Given the description of an element on the screen output the (x, y) to click on. 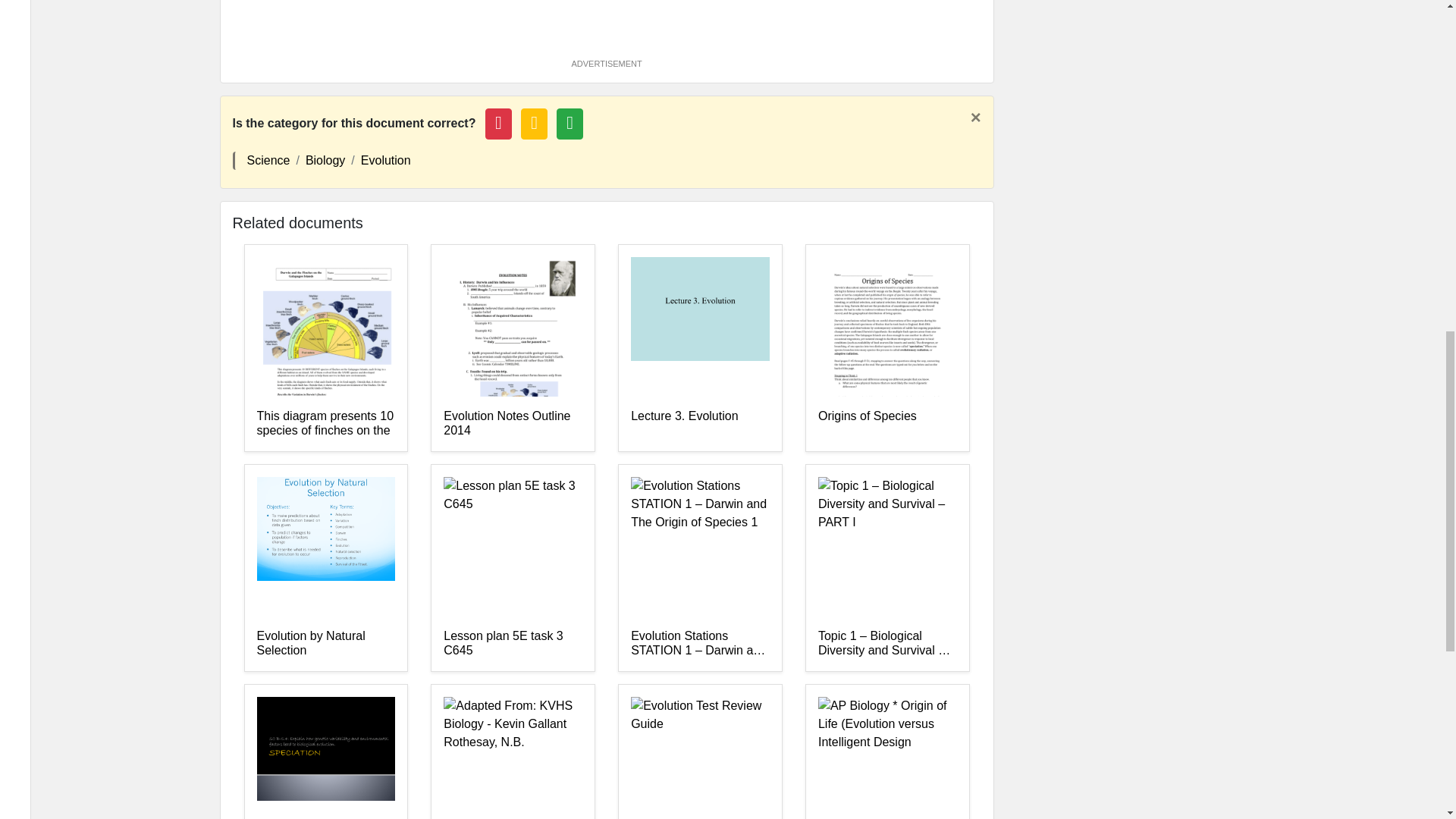
This diagram presents 10 species of finches on the (325, 423)
Evolution Notes Outline 2014 (513, 423)
Science (268, 160)
Evolution Notes Outline 2014 (513, 423)
Lecture 3. Evolution (700, 423)
Origins of Species (887, 423)
Origins of Species (887, 423)
Lecture 3. Evolution (700, 423)
Evolution by Natural Selection (325, 643)
Biology (325, 160)
